Given the description of an element on the screen output the (x, y) to click on. 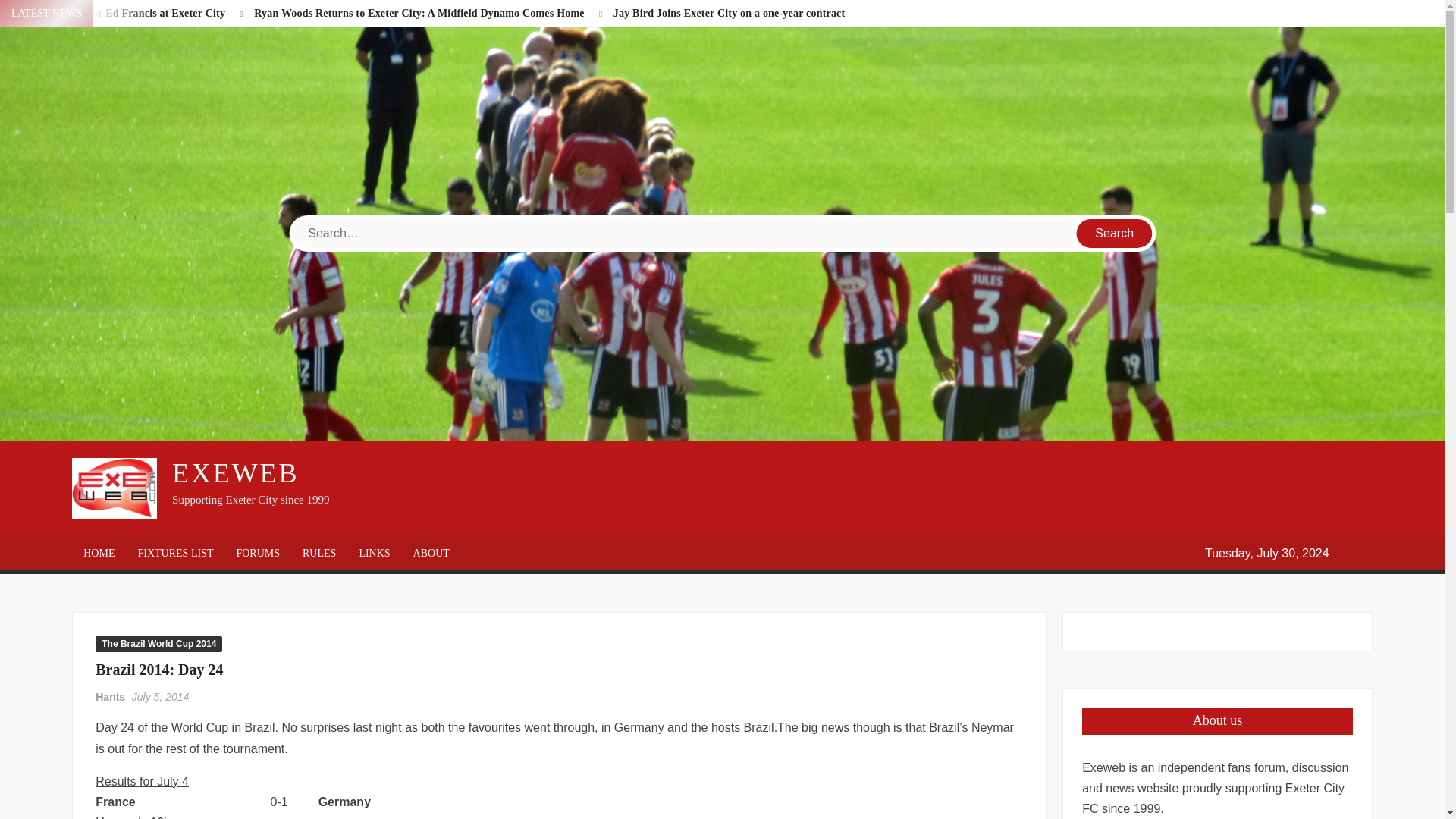
Search (1115, 233)
A New Chapter for Ed Francis at Exeter City (119, 12)
HOME (98, 553)
The Brazil World Cup 2014 (159, 643)
Hants (110, 696)
Search (1115, 233)
EXEWEB (234, 472)
Search (1115, 233)
FORUMS (257, 553)
A New Chapter for Ed Francis at Exeter City (119, 12)
RULES (319, 553)
July 5, 2014 (160, 696)
Jay Bird Joins Exeter City on a one-year contract (728, 12)
ABOUT (431, 553)
